Given the description of an element on the screen output the (x, y) to click on. 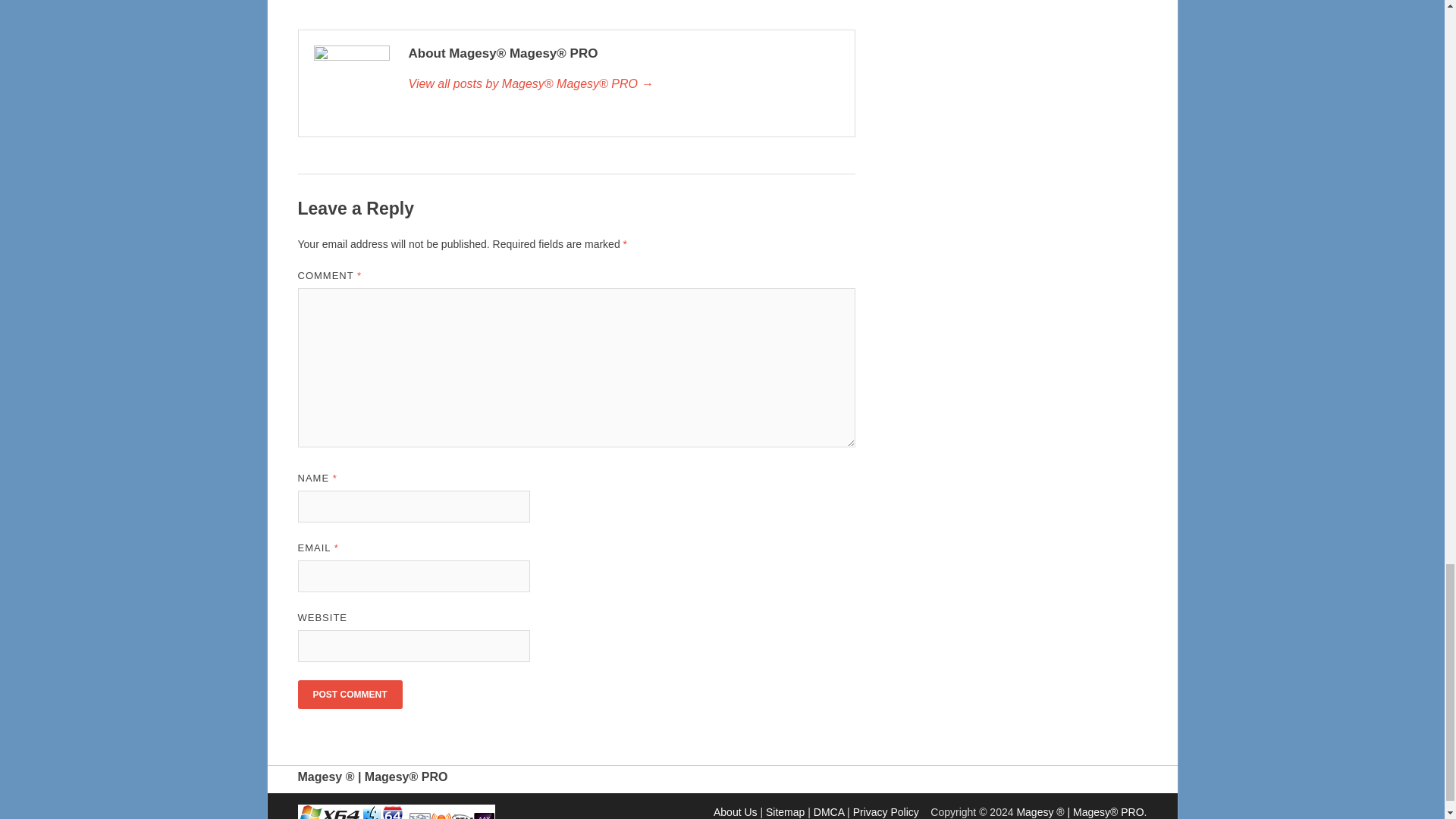
Post Comment (349, 694)
